Given the description of an element on the screen output the (x, y) to click on. 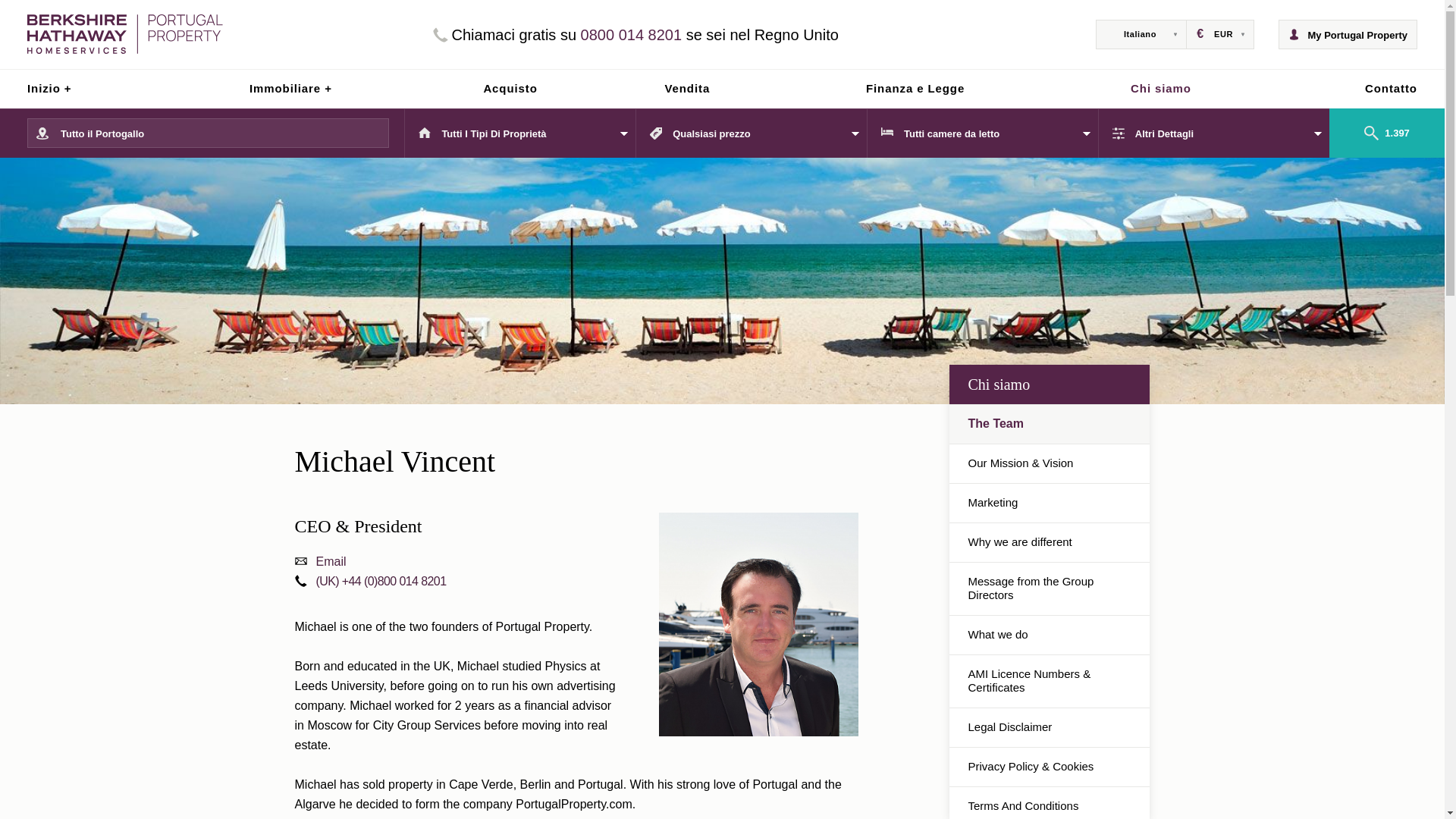
GBP (1219, 62)
English (1141, 62)
Marketing (1049, 503)
Legal Disclaimer (1049, 727)
Chiamaci gratis su 0800 014 8201 se sei nel Regno Unito (634, 34)
What we do (1049, 634)
Message from the Group Directors (1049, 588)
Vendita (687, 88)
Email (320, 561)
Italiano (1141, 34)
Finanza e Legge (914, 88)
Chi siamo (1160, 88)
Acquisto (510, 88)
Why we are different (1049, 542)
The Team (1049, 423)
